Given the description of an element on the screen output the (x, y) to click on. 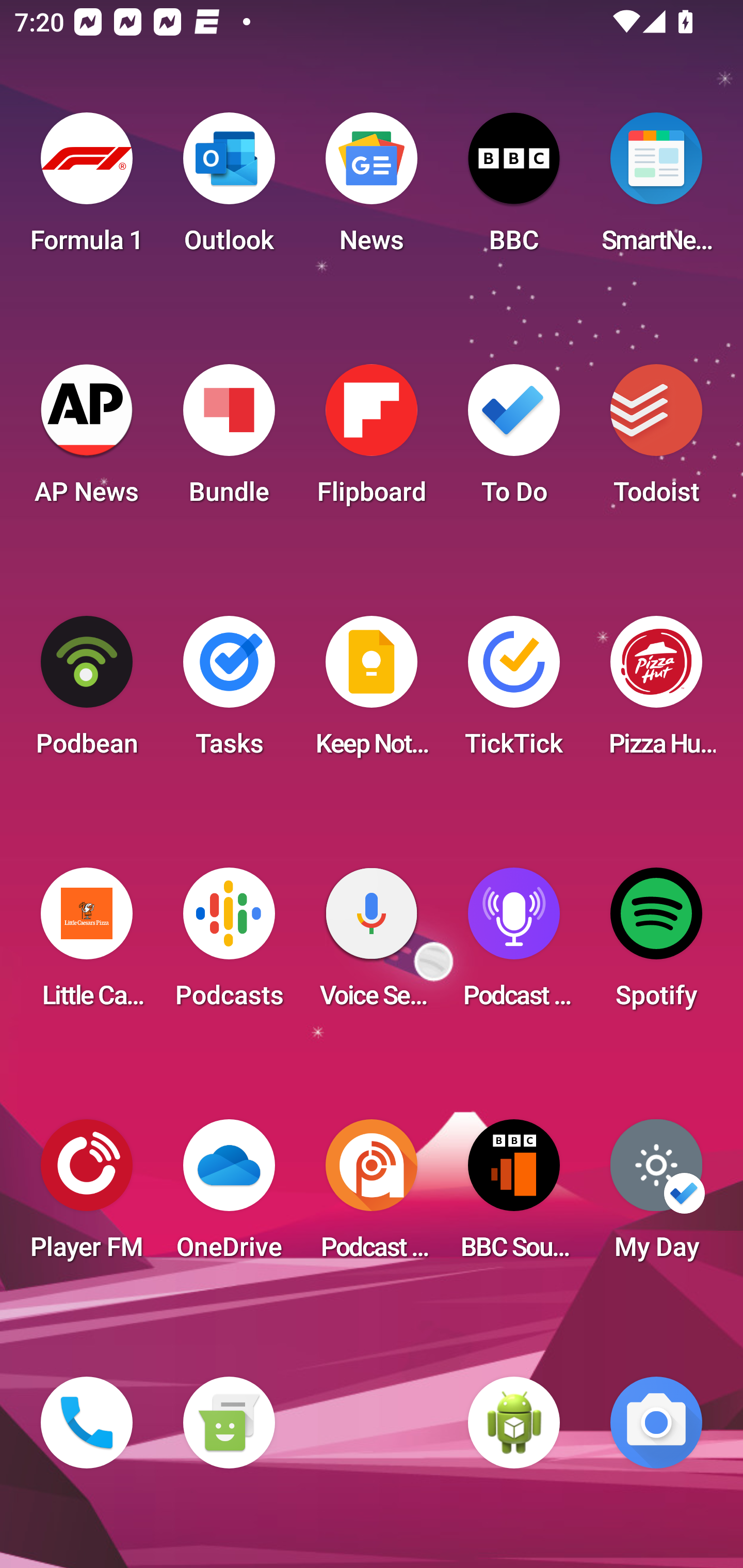
Formula 1 (86, 188)
Outlook (228, 188)
News (371, 188)
BBC (513, 188)
SmartNews (656, 188)
AP News (86, 440)
Bundle (228, 440)
Flipboard (371, 440)
To Do (513, 440)
Todoist (656, 440)
Podbean (86, 692)
Tasks (228, 692)
Keep Notes (371, 692)
TickTick (513, 692)
Pizza Hut HK & Macau (656, 692)
Little Caesars Pizza (86, 943)
Podcasts (228, 943)
Voice Search (371, 943)
Podcast Player (513, 943)
Spotify (656, 943)
Player FM (86, 1195)
OneDrive (228, 1195)
Podcast Addict (371, 1195)
BBC Sounds (513, 1195)
My Day (656, 1195)
Phone (86, 1422)
Messaging (228, 1422)
WebView Browser Tester (513, 1422)
Camera (656, 1422)
